Given the description of an element on the screen output the (x, y) to click on. 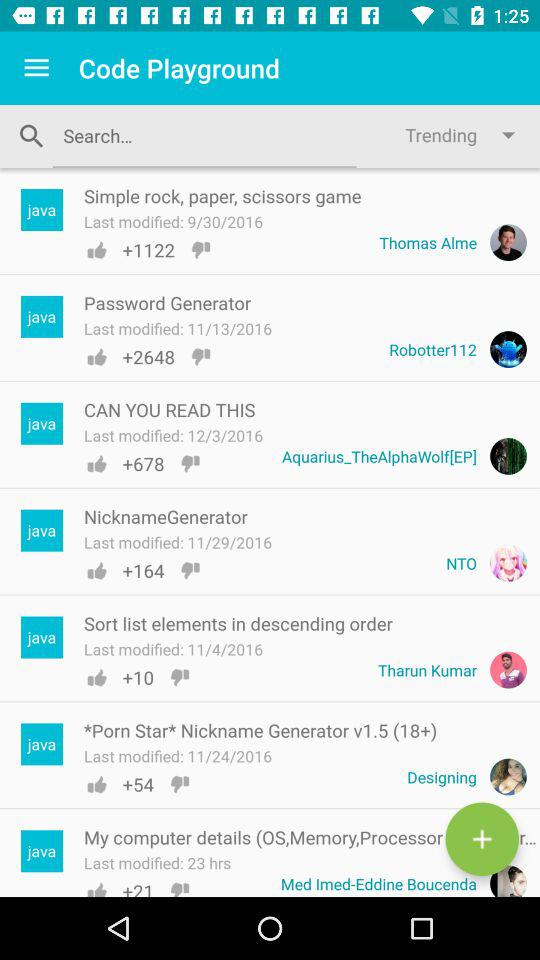
keyword search (204, 135)
